Given the description of an element on the screen output the (x, y) to click on. 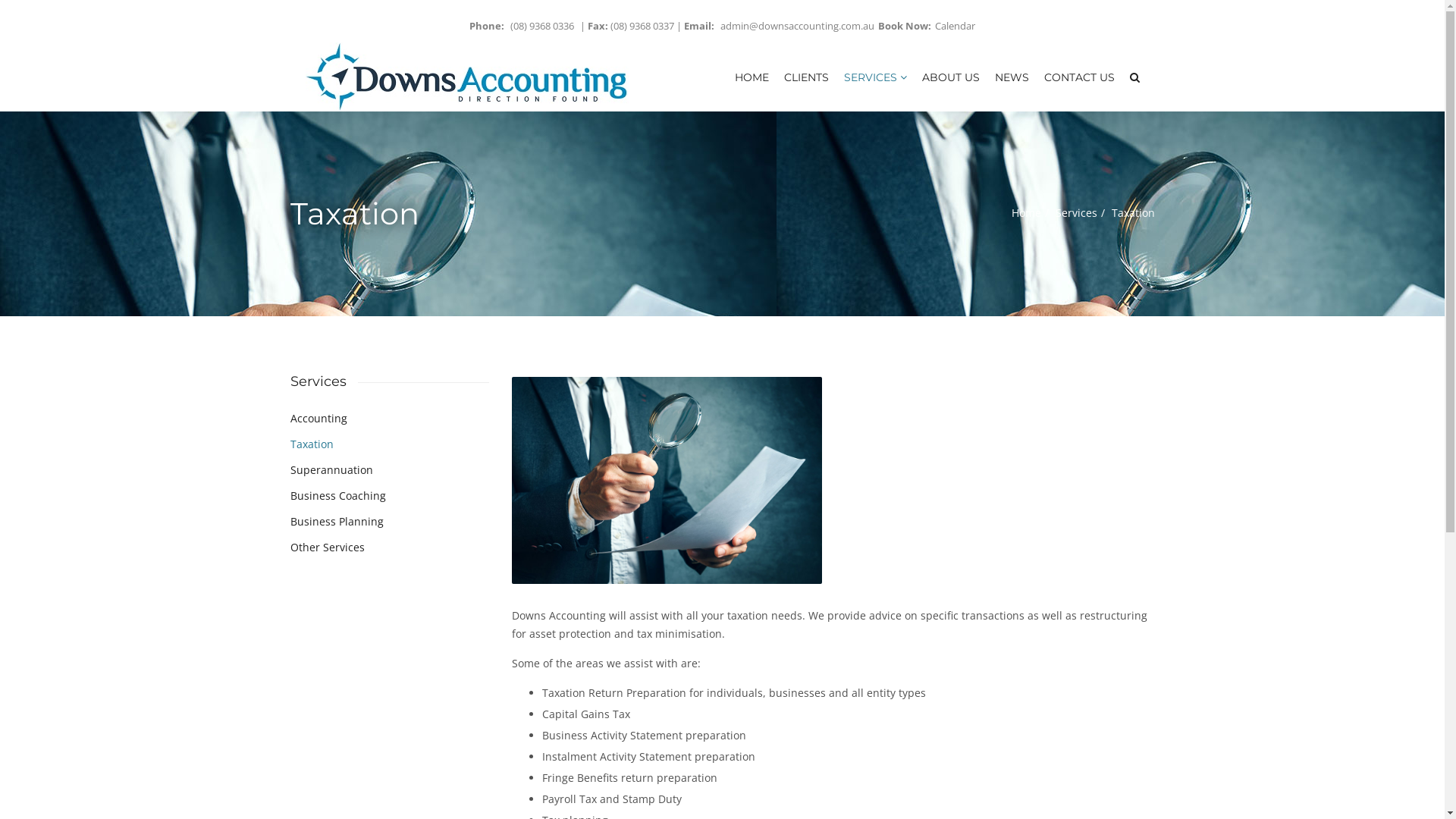
Services Element type: text (1076, 212)
Business Coaching Element type: text (337, 495)
admin@downsaccounting.com.au Element type: text (797, 25)
Accounting Element type: text (317, 418)
HOME Element type: text (750, 76)
Home Element type: text (1026, 212)
SERVICES Element type: text (874, 76)
CLIENTS Element type: text (806, 76)
Calendar Element type: text (955, 25)
Other Services Element type: text (326, 547)
Taxation Element type: text (310, 444)
Superannuation Element type: text (330, 470)
NEWS Element type: text (1011, 76)
CONTACT US Element type: text (1078, 76)
(08) 9368 0336 Element type: text (542, 25)
ABOUT US Element type: text (950, 76)
Business Planning Element type: text (335, 521)
